Given the description of an element on the screen output the (x, y) to click on. 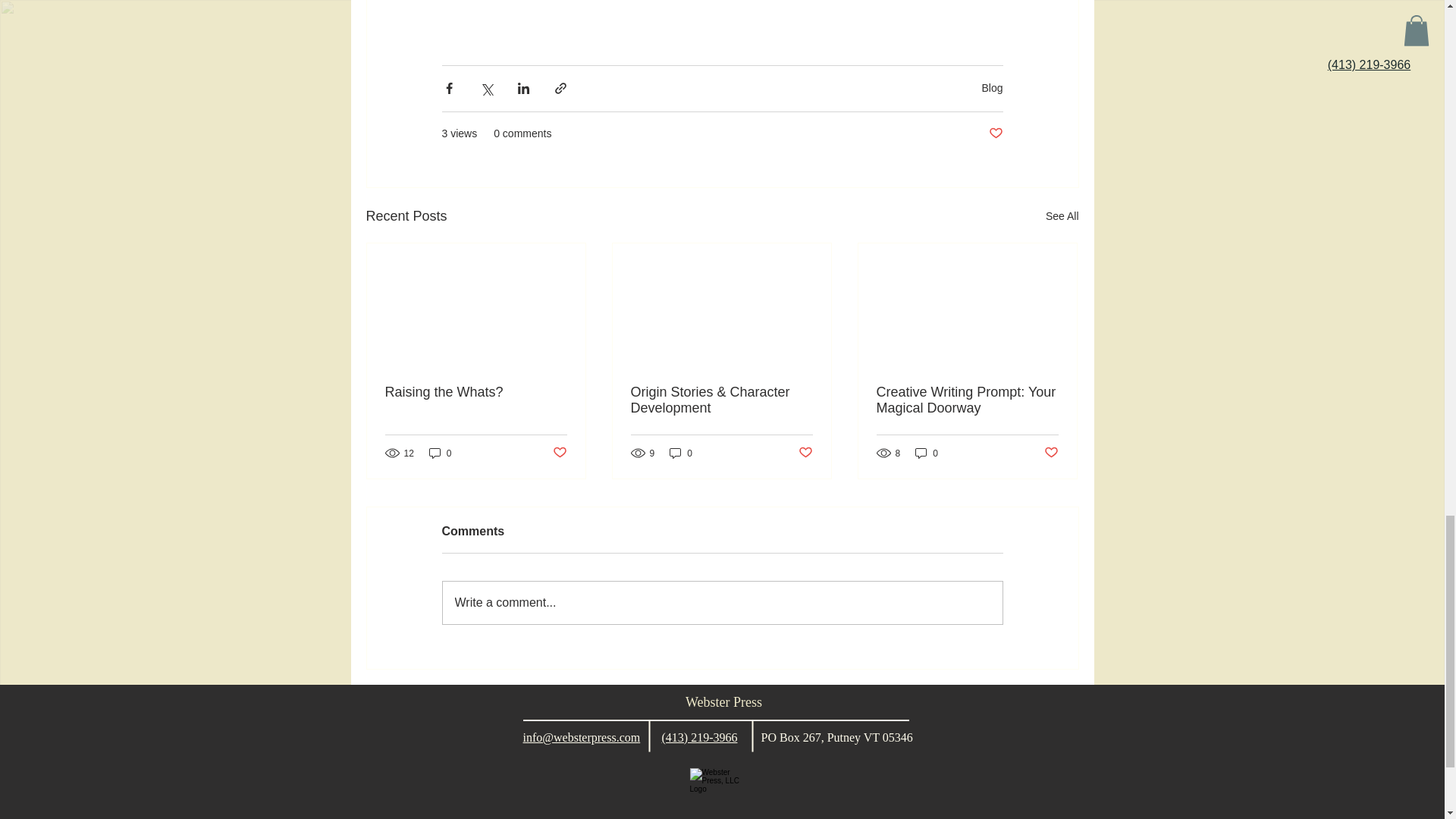
Creative Writing Prompt: Your Magical Doorway (967, 400)
Post not marked as liked (1050, 453)
Blog (992, 87)
0 (926, 452)
See All (1061, 216)
Post not marked as liked (804, 453)
0 (440, 452)
Write a comment... (722, 602)
Post not marked as liked (995, 133)
Post not marked as liked (558, 453)
Raising the Whats? (476, 392)
0 (681, 452)
